Given the description of an element on the screen output the (x, y) to click on. 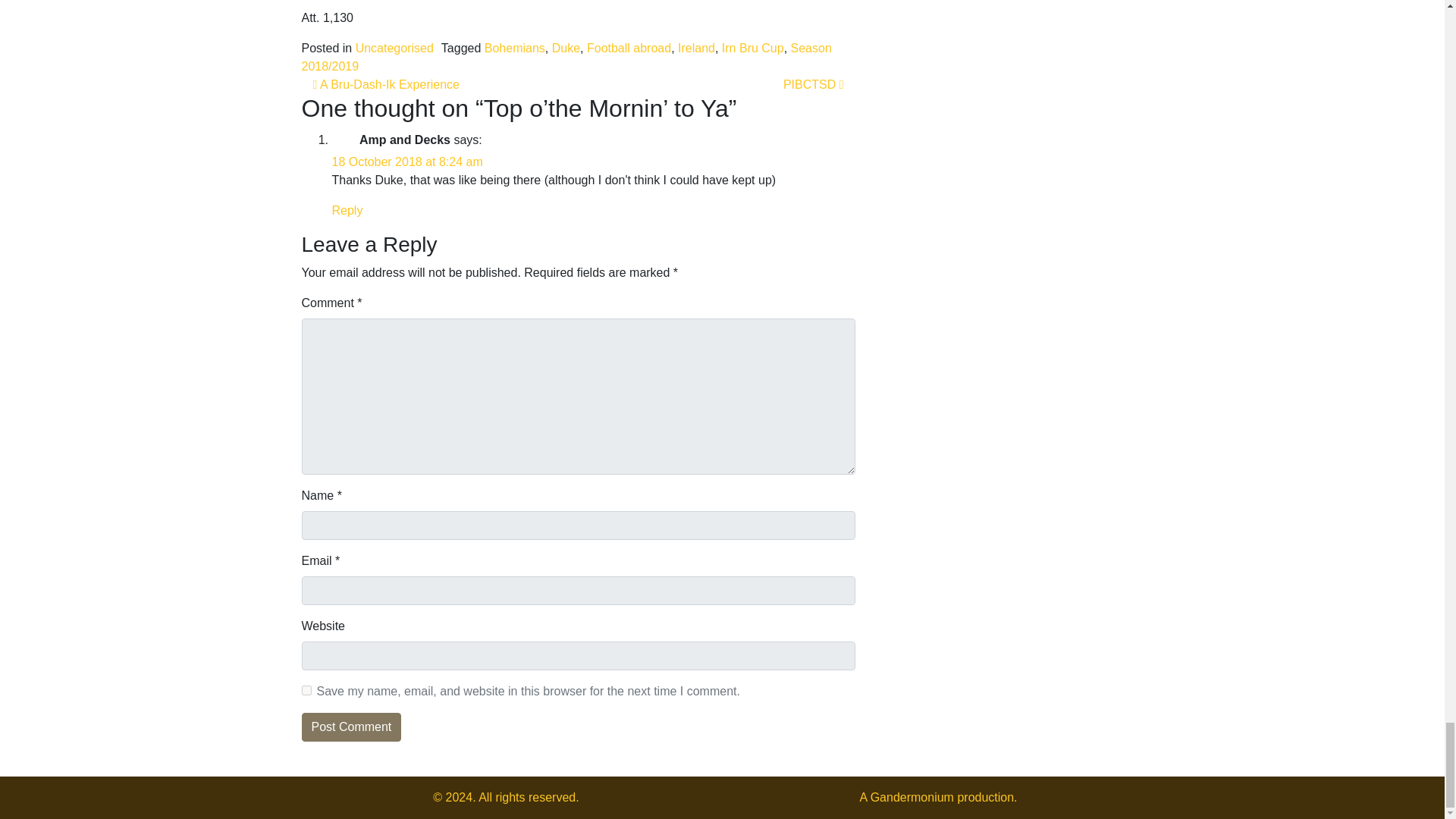
Post Comment (351, 727)
PIBCTSD  (813, 83)
Football abroad (628, 47)
Bohemians (514, 47)
yes (306, 690)
Irn Bru Cup (753, 47)
 A Bru-Dash-Ik Experience (385, 83)
Reply (346, 210)
Ireland (696, 47)
Post Comment (351, 727)
Duke (565, 47)
18 October 2018 at 8:24 am (407, 161)
Uncategorised (394, 47)
